Given the description of an element on the screen output the (x, y) to click on. 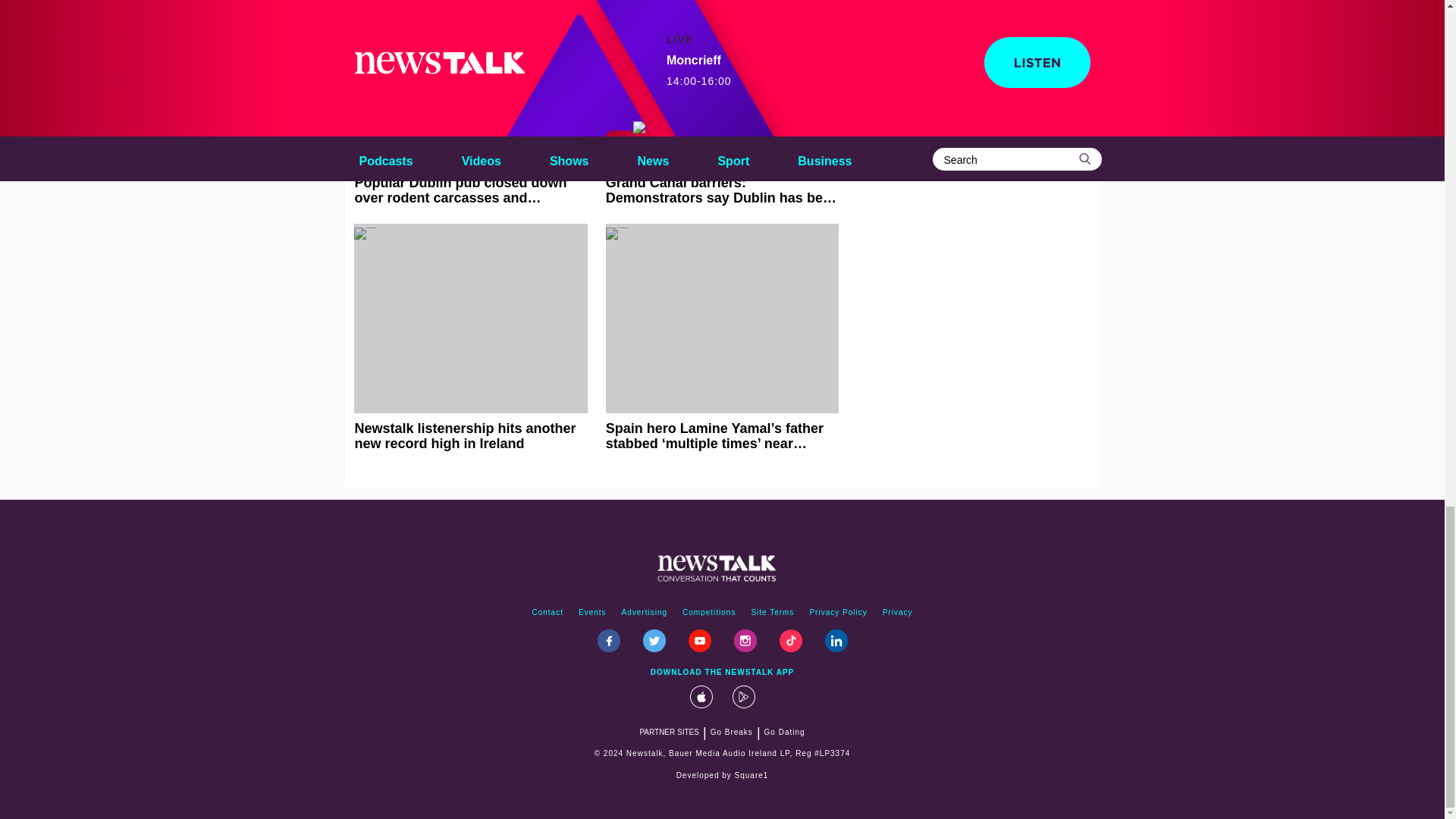
contact (547, 612)
advertising (644, 612)
Privacy (897, 612)
Privacy Policy (838, 612)
site terms (772, 612)
events (592, 612)
competitions (708, 612)
